Given the description of an element on the screen output the (x, y) to click on. 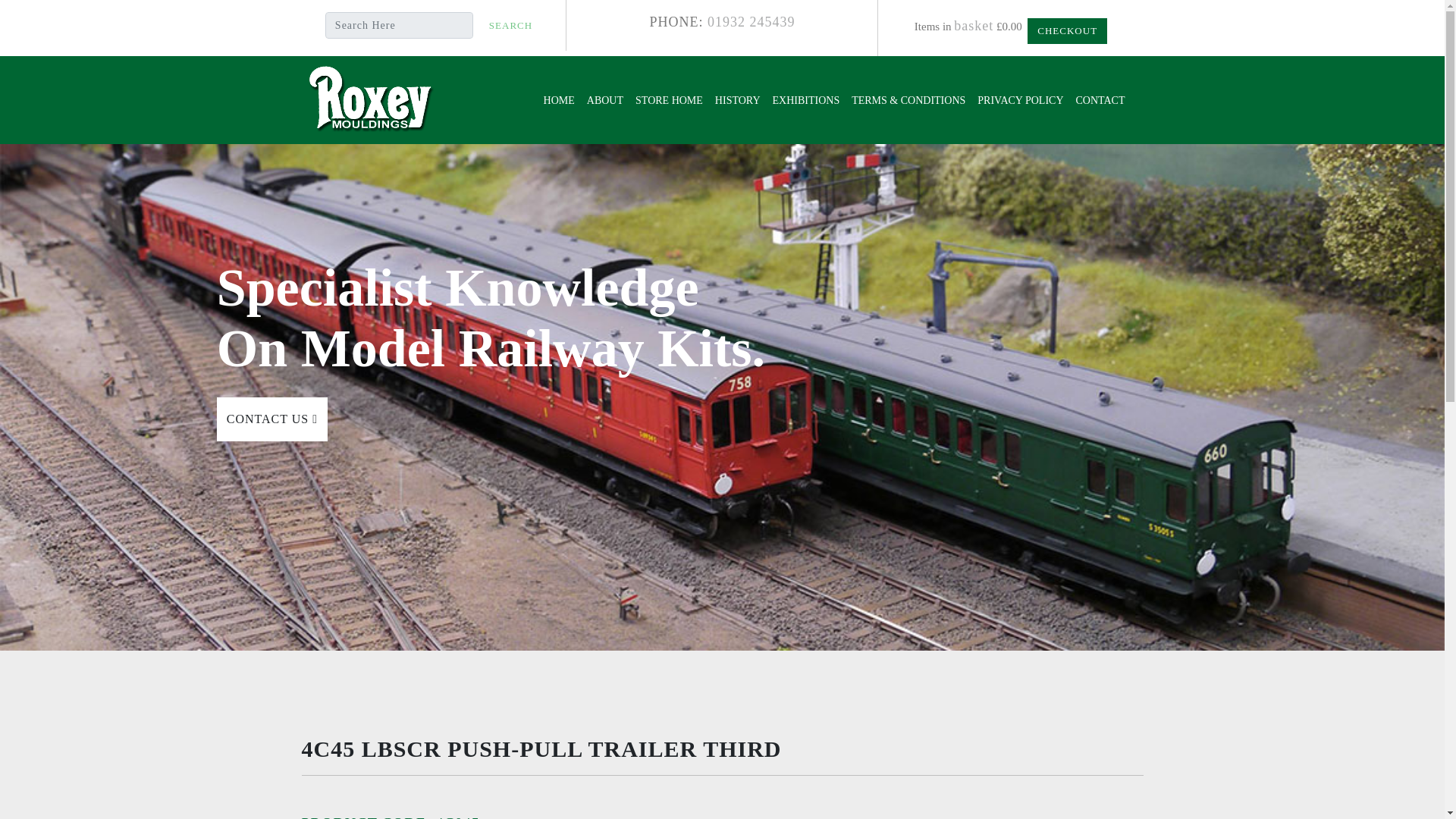
CONTACT (1099, 100)
ABOUT (604, 100)
01932 245439 (750, 21)
PRIVACY POLICY (1019, 100)
CONTACT US (271, 419)
CHECKOUT (1066, 31)
HISTORY (738, 100)
EXHIBITIONS (806, 100)
basket (972, 25)
SEARCH (510, 25)
